Given the description of an element on the screen output the (x, y) to click on. 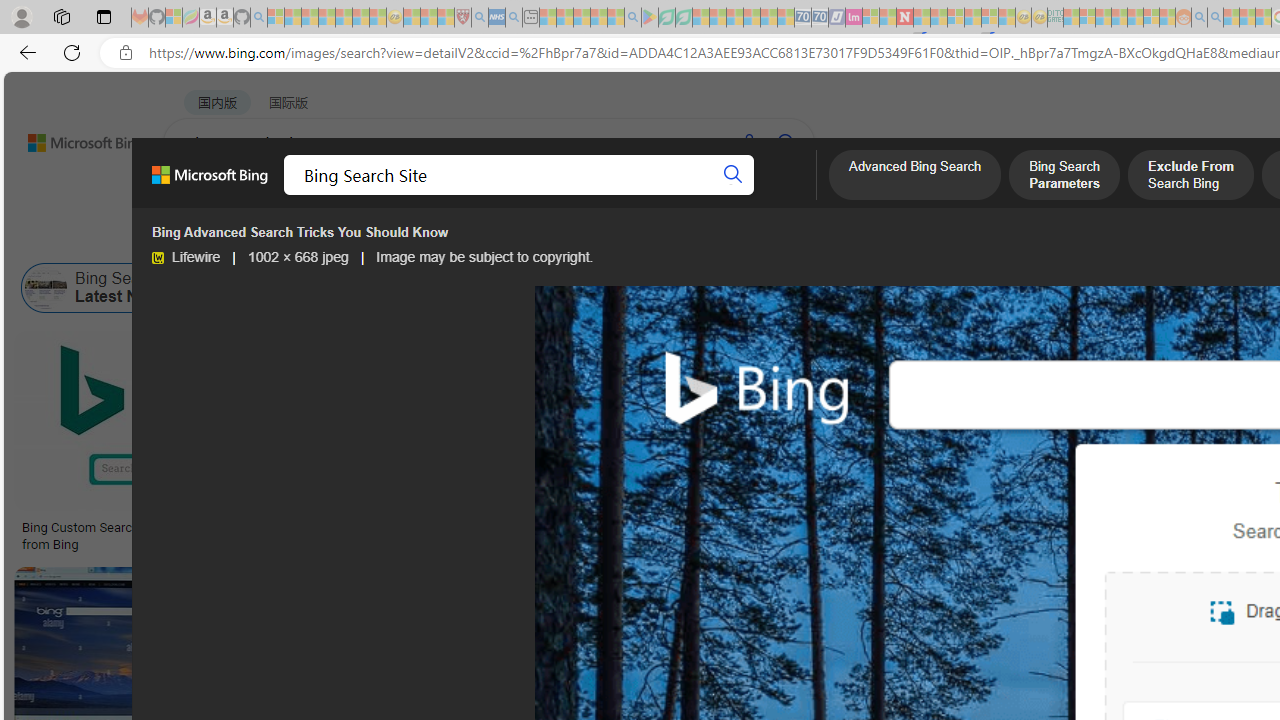
Search using voice (748, 142)
MORE (793, 195)
Image result for Bing Search Site (1095, 421)
WEB (201, 195)
Bing as Search Engine (222, 287)
Bing Search Latest News (45, 287)
